Given the description of an element on the screen output the (x, y) to click on. 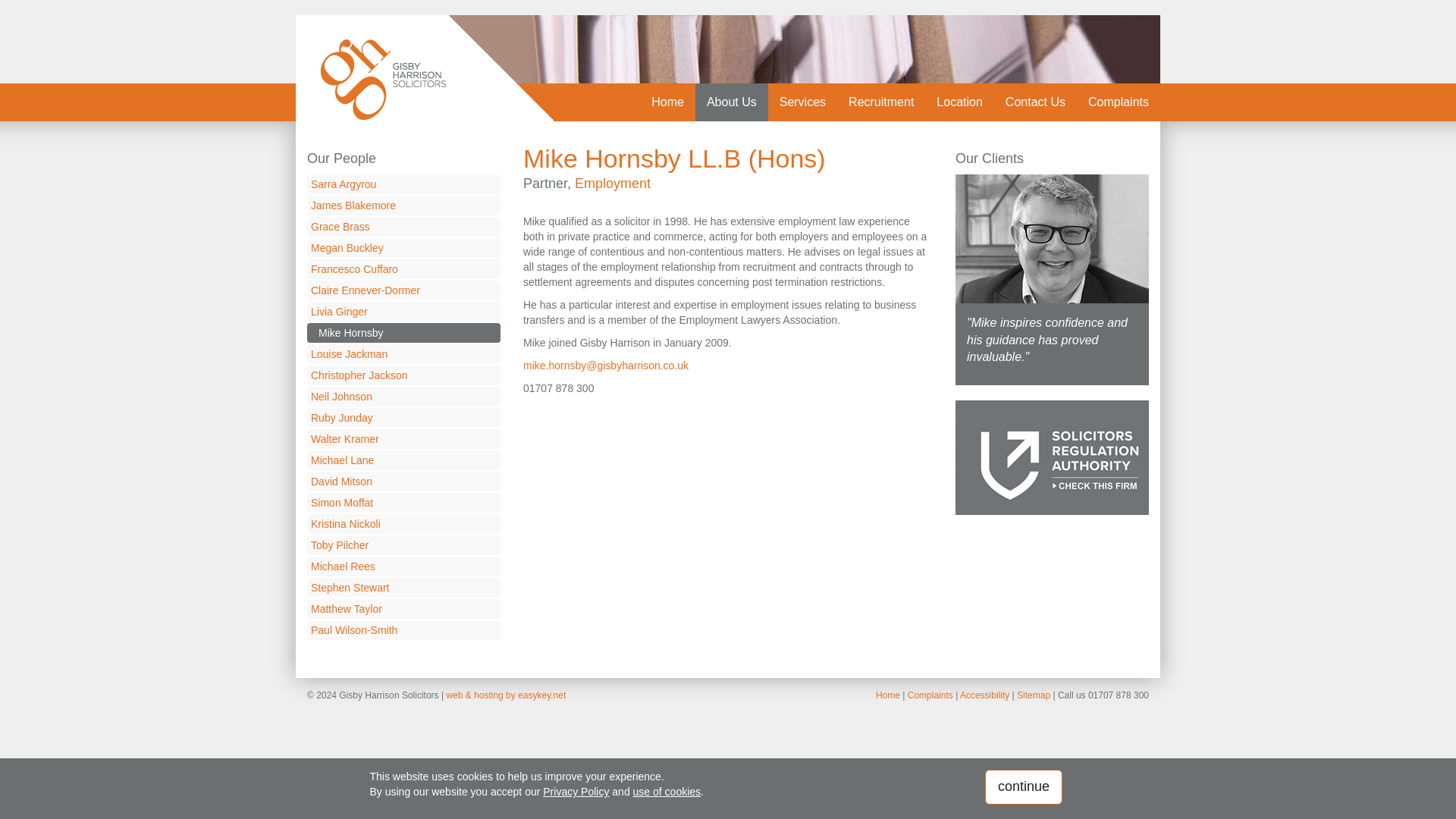
Services (802, 102)
About Us (731, 102)
Location (959, 102)
Home (667, 102)
Recruitment (880, 102)
